Given the description of an element on the screen output the (x, y) to click on. 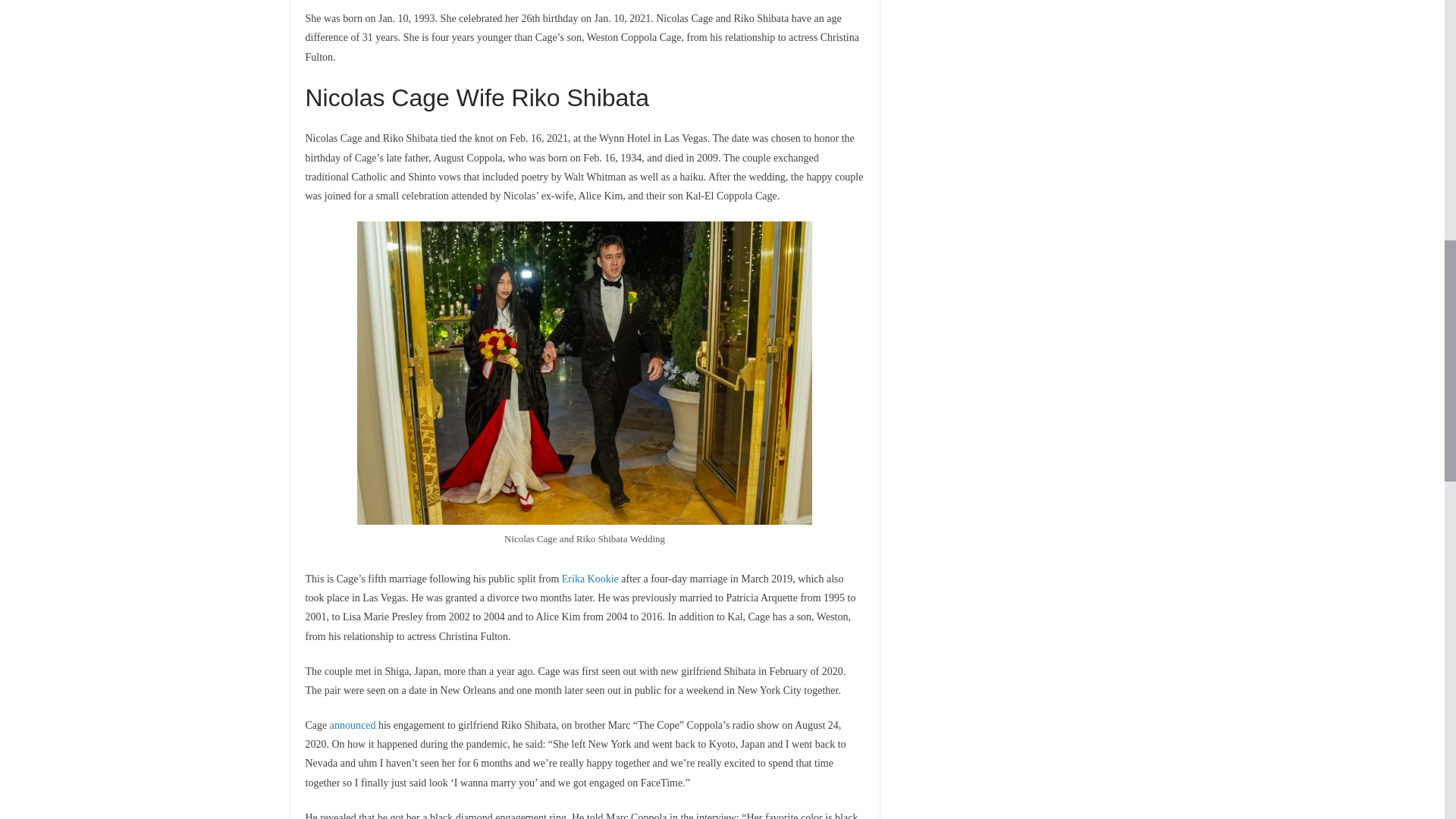
announced (352, 725)
Erika Kookie (590, 578)
